Given the description of an element on the screen output the (x, y) to click on. 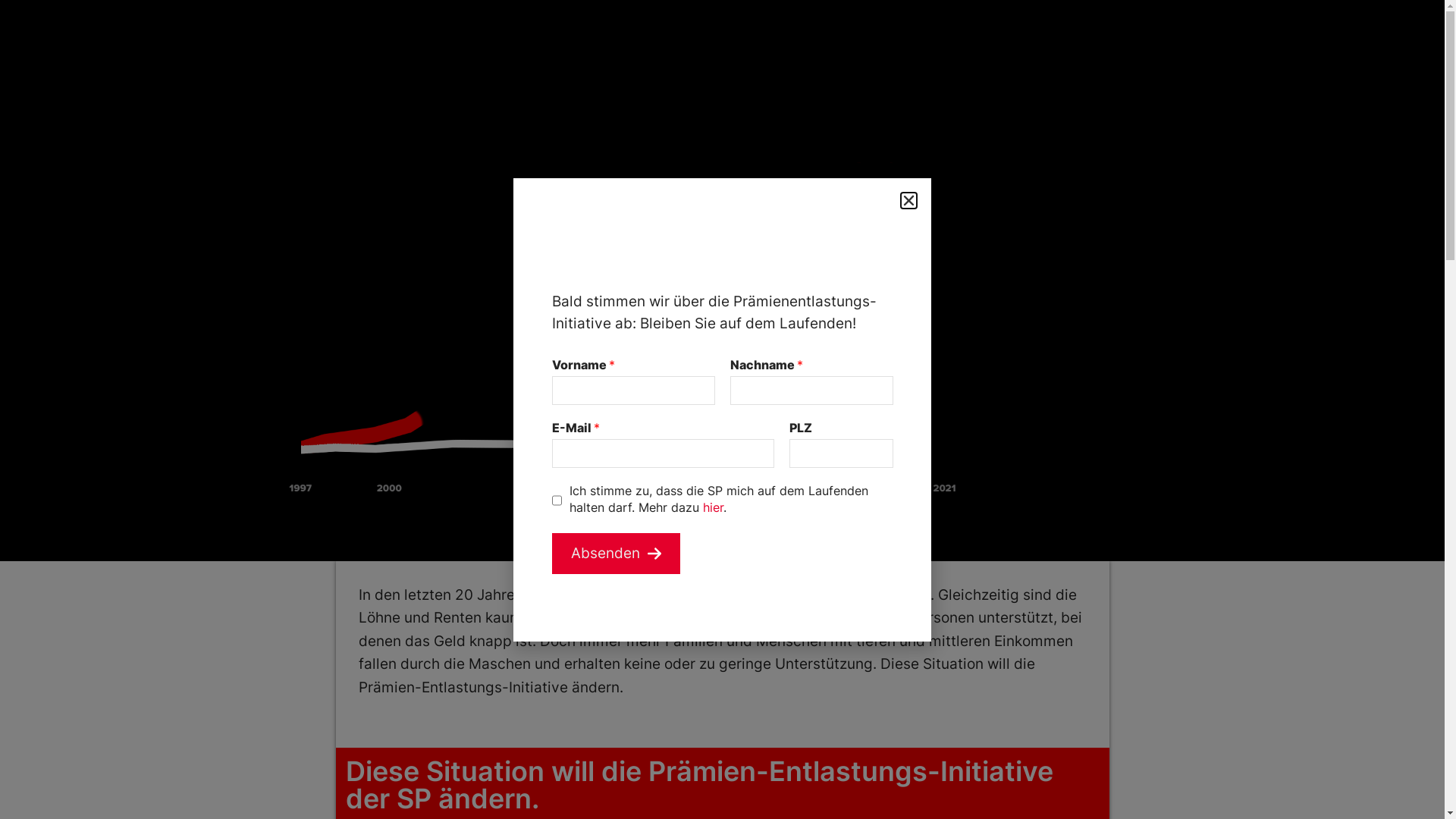
Absenden Element type: text (616, 553)
hier Element type: text (712, 506)
